Given the description of an element on the screen output the (x, y) to click on. 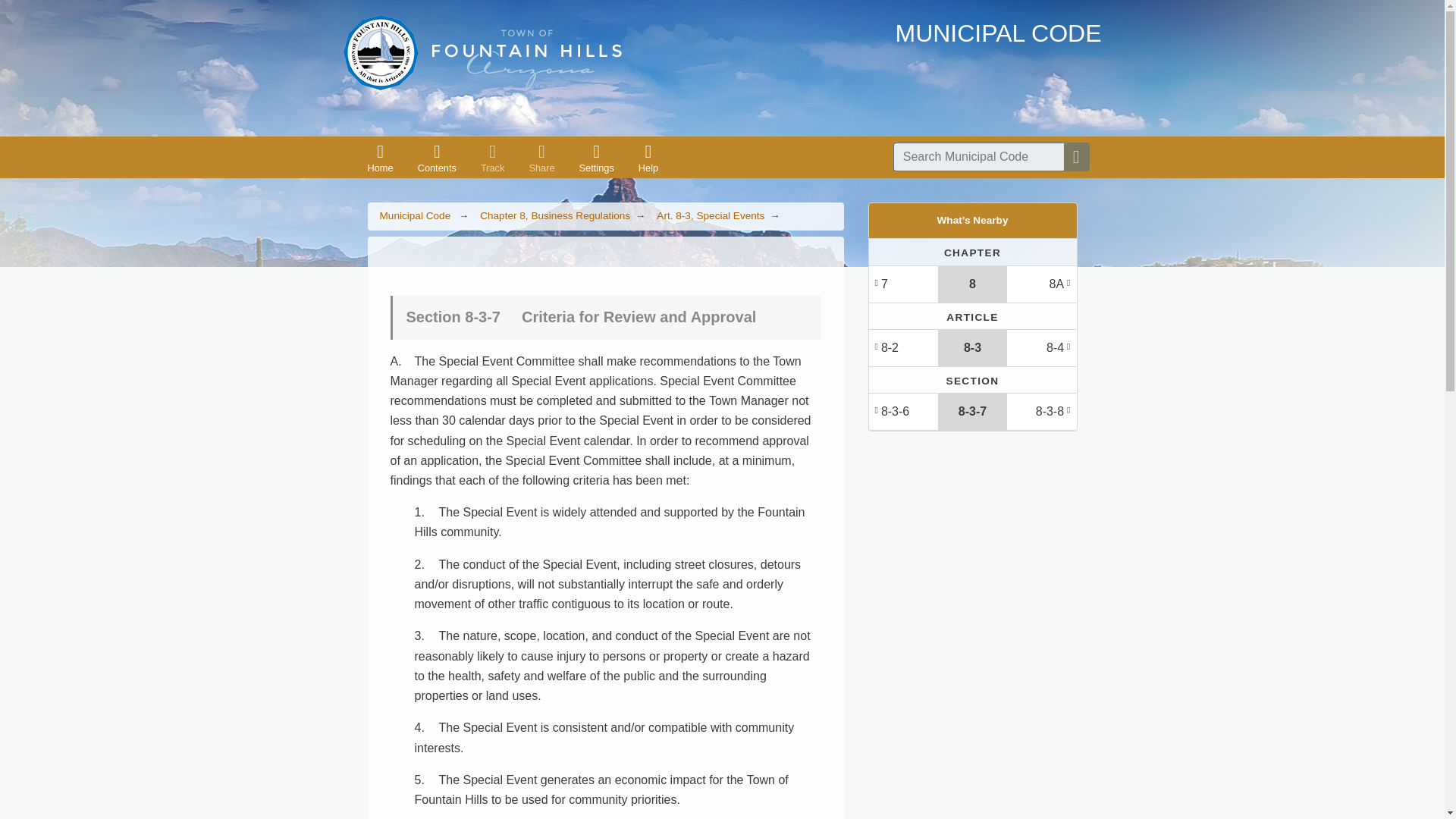
Track (492, 157)
Town of Fountain Hills, Arizona (481, 52)
Help (647, 157)
7 (903, 284)
Art. 8-3, Special Events (710, 215)
Settings (596, 157)
Choose how this site appears to you. (596, 157)
Share (541, 157)
Contents (437, 157)
